Given the description of an element on the screen output the (x, y) to click on. 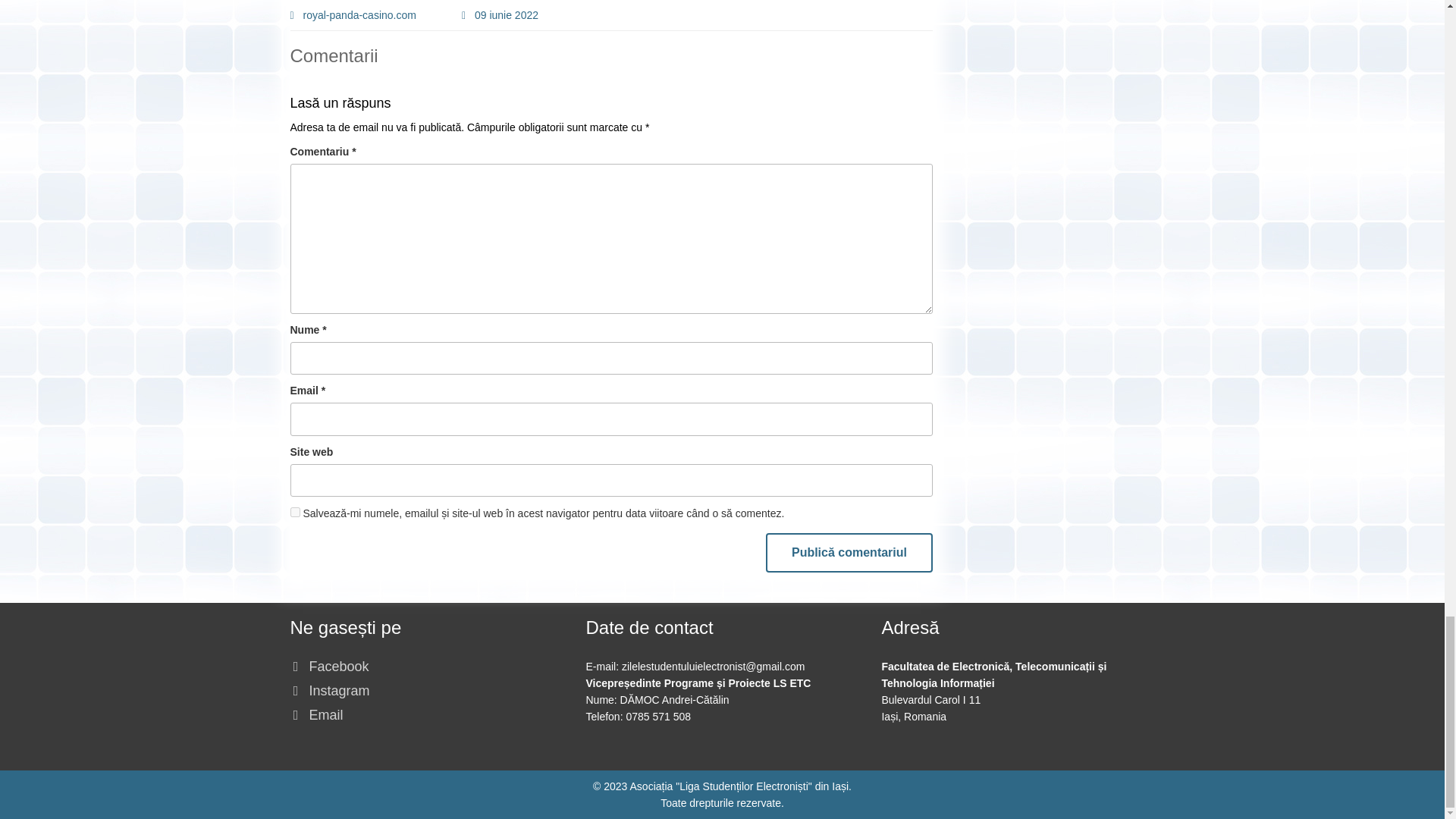
royal-panda-casino.com (351, 14)
yes (294, 511)
09 iunie 2022 (499, 14)
